Given the description of an element on the screen output the (x, y) to click on. 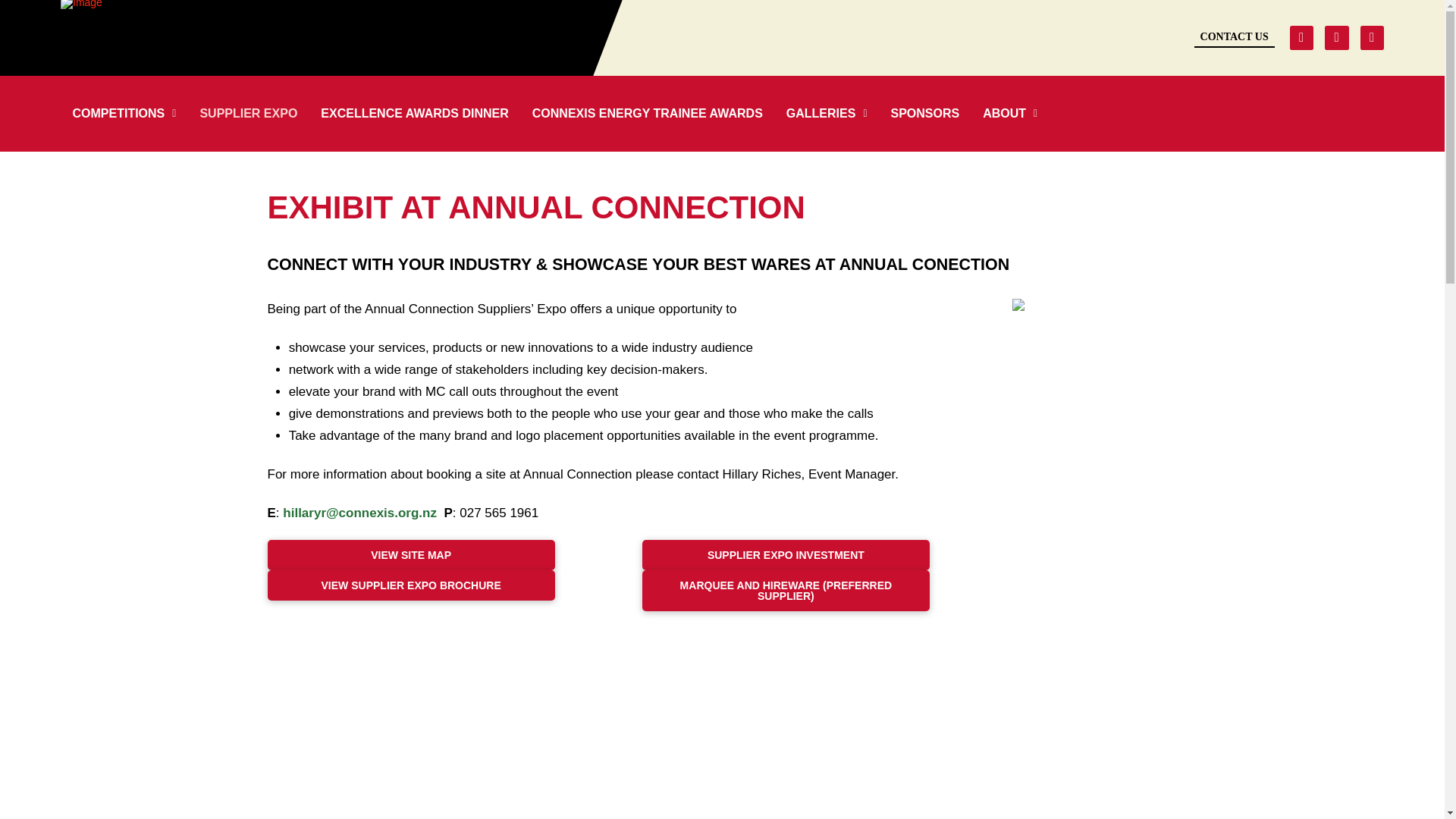
VIEW SITE MAP (410, 554)
COMPETITIONS (124, 113)
ABOUT (1010, 113)
SUPPLIER EXPO INVESTMENT (786, 554)
EXCELLENCE AWARDS DINNER (413, 113)
CONNEXIS ENERGY TRAINEE AWARDS (646, 113)
CONTACT US (1234, 37)
SPONSORS (925, 113)
GALLERIES (826, 113)
SUPPLIER EXPO (247, 113)
